Given the description of an element on the screen output the (x, y) to click on. 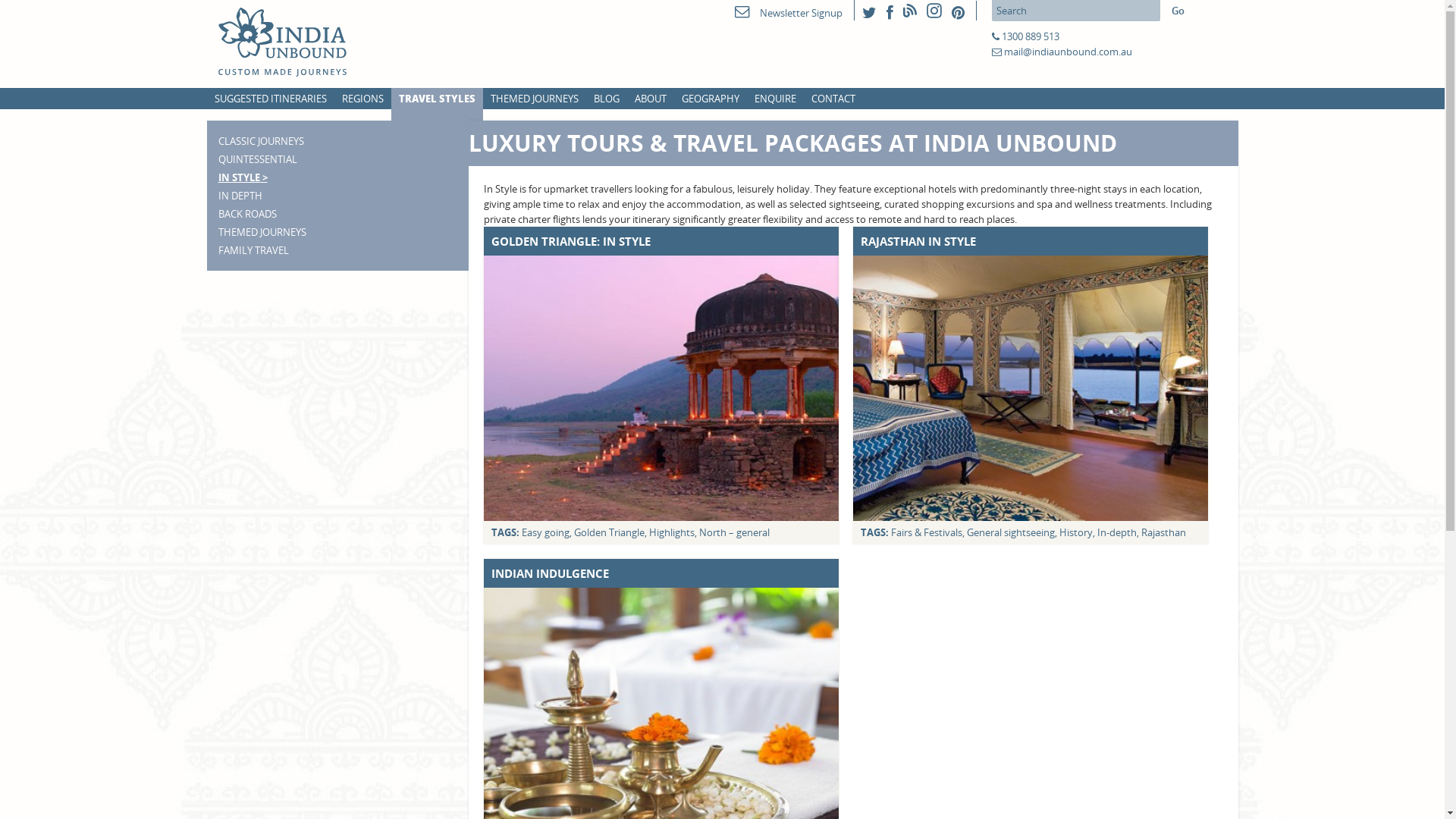
Go Element type: text (1176, 10)
GEOGRAPHY Element type: text (709, 98)
CLASSIC JOURNEYS Element type: text (261, 140)
India Unbound Element type: text (305, 41)
REGIONS Element type: text (361, 98)
THEMED JOURNEYS Element type: text (262, 231)
Newsletter Signup Element type: text (787, 12)
1300 889 513 Element type: text (1029, 36)
ENQUIRE Element type: text (774, 98)
mail@indiaunbound.com.au Element type: text (1068, 51)
THEMED JOURNEYS Element type: text (533, 98)
TRAVEL STYLES Element type: text (436, 98)
BLOG Element type: text (605, 98)
FAMILY TRAVEL Element type: text (253, 250)
SUGGESTED ITINERARIES Element type: text (269, 98)
IN STYLE Element type: text (242, 177)
BACK ROADS Element type: text (247, 213)
CONTACT Element type: text (833, 98)
ABOUT Element type: text (649, 98)
Skip to primary content Element type: text (53, 7)
QUINTESSENTIAL Element type: text (257, 159)
IN DEPTH Element type: text (240, 195)
